Given the description of an element on the screen output the (x, y) to click on. 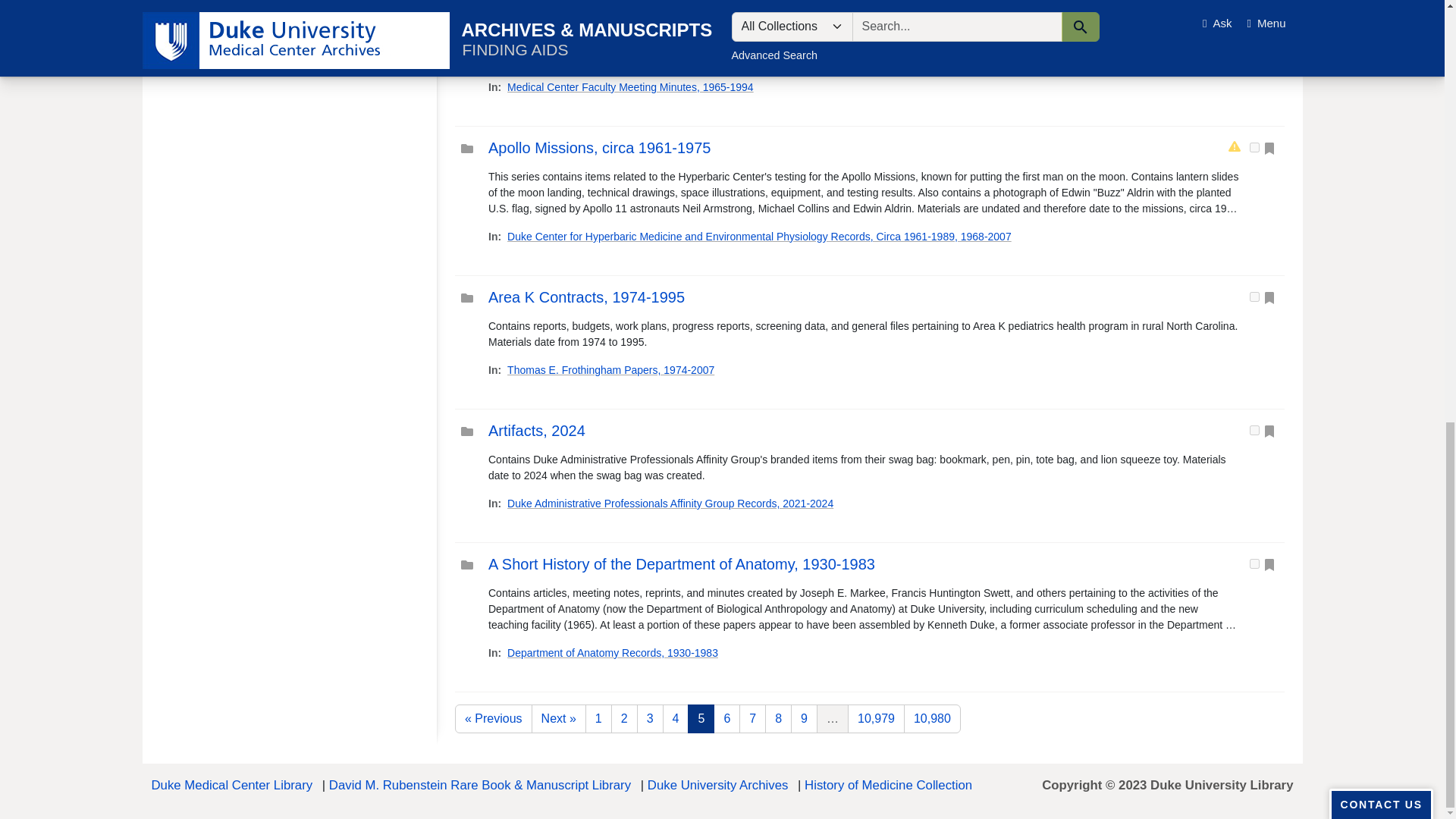
Some restrictions apply (1234, 147)
on (1254, 563)
on (1254, 147)
on (1254, 429)
on (1254, 30)
on (1254, 296)
